Given the description of an element on the screen output the (x, y) to click on. 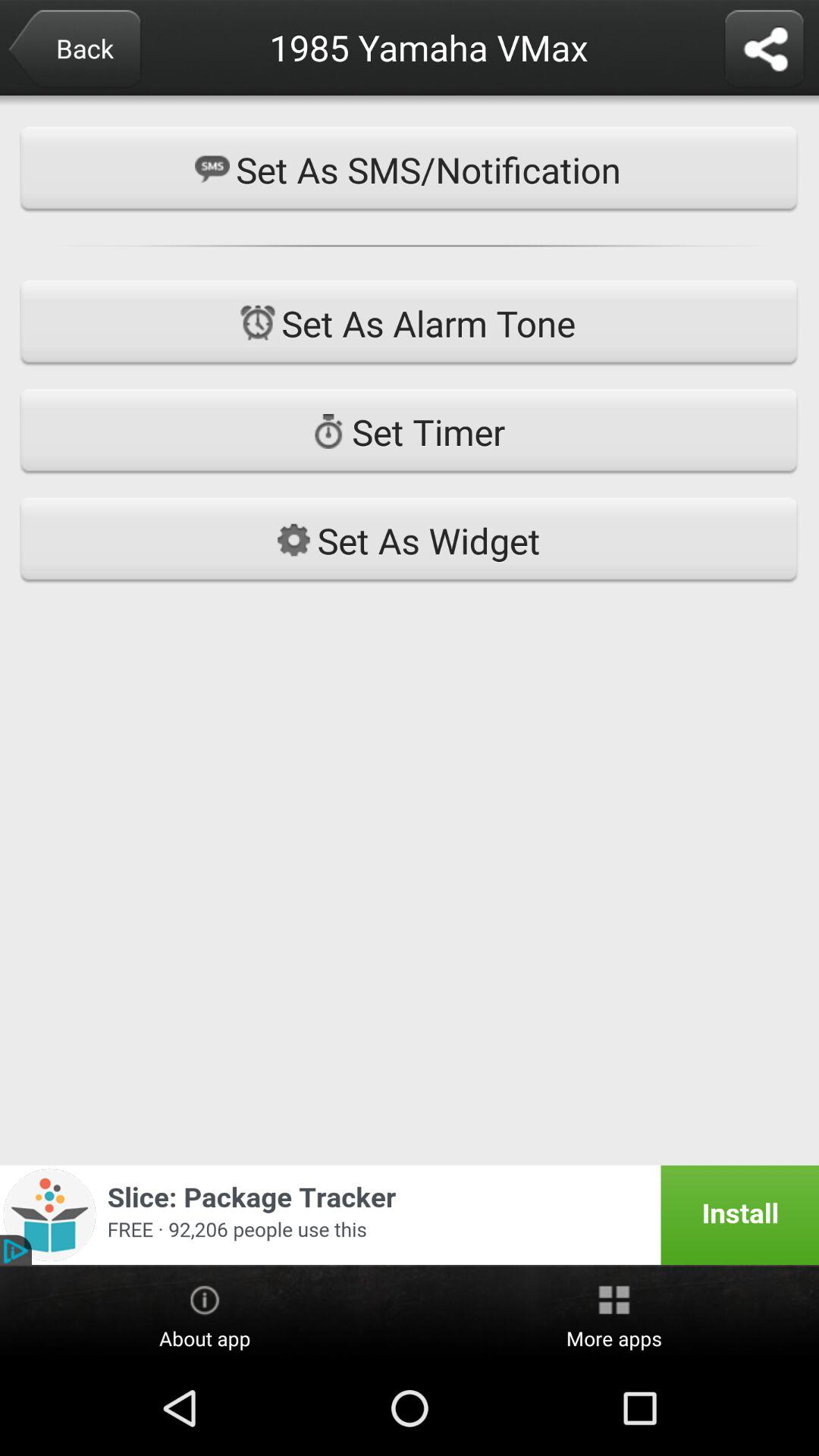
flip until back icon (73, 50)
